Given the description of an element on the screen output the (x, y) to click on. 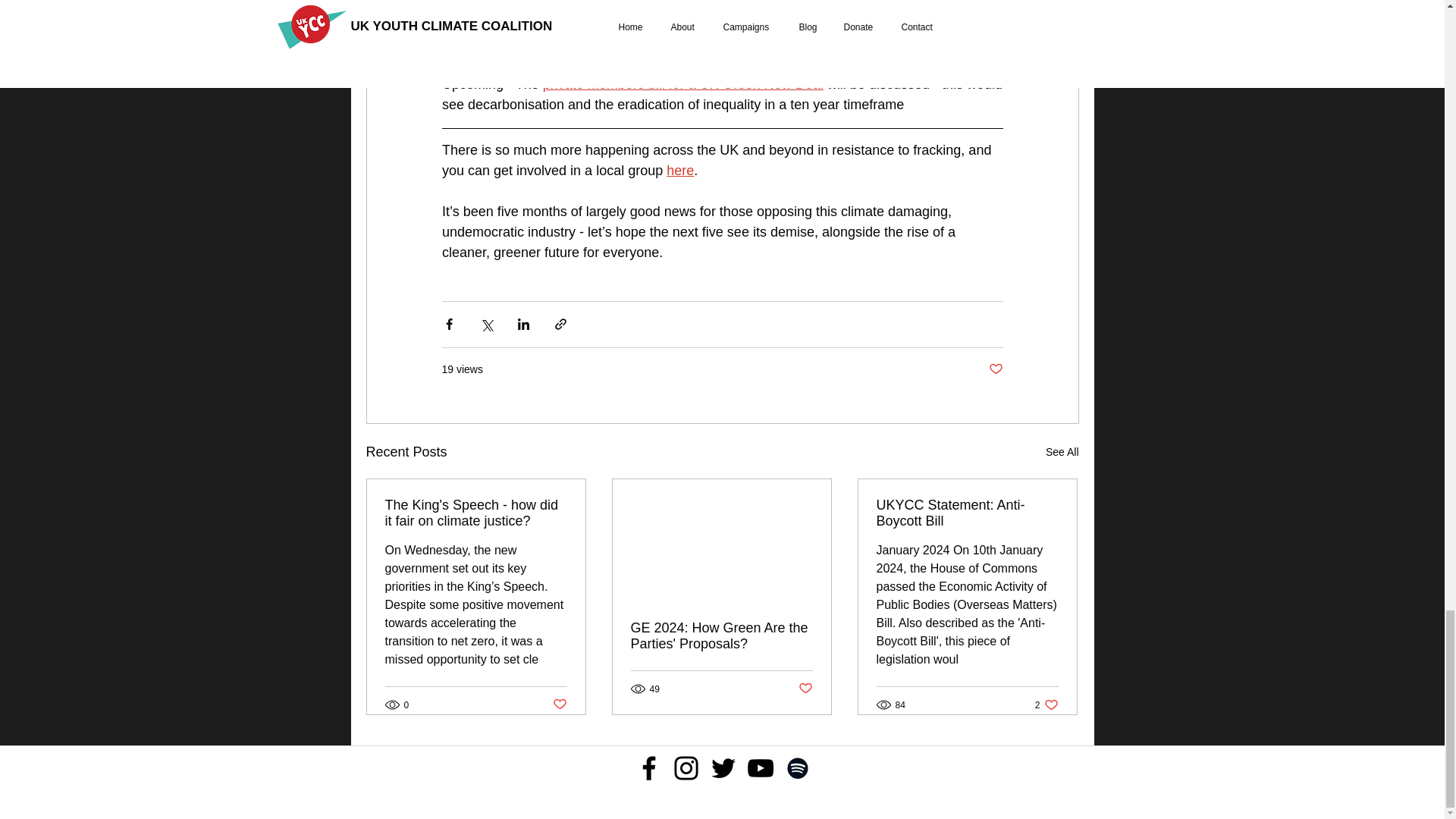
here (680, 170)
Power Beyond Borders Mass Action Camp (676, 21)
private members bill for a UK Green New Deal (681, 83)
